Given the description of an element on the screen output the (x, y) to click on. 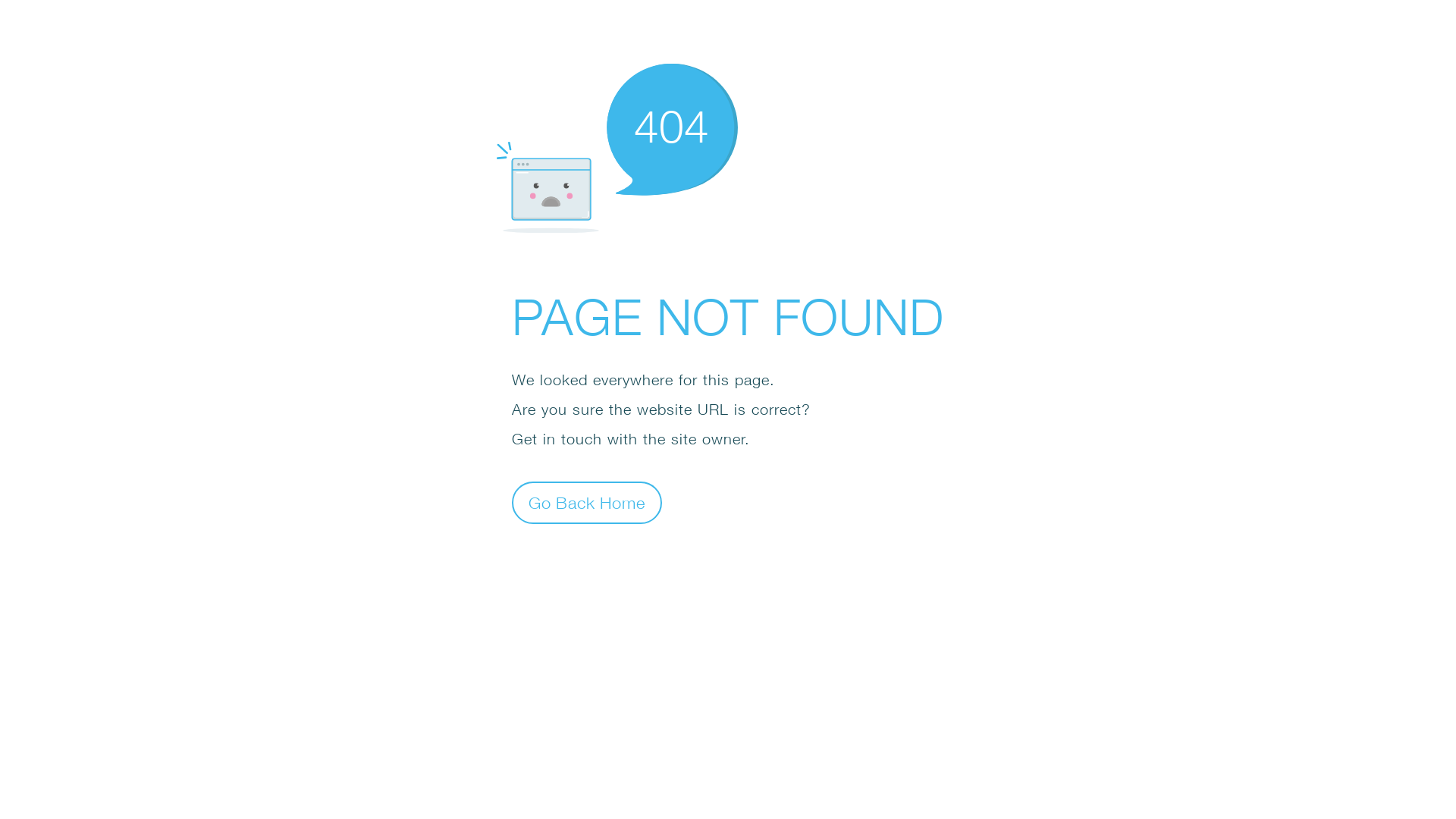
Go Back Home Element type: text (586, 502)
